Given the description of an element on the screen output the (x, y) to click on. 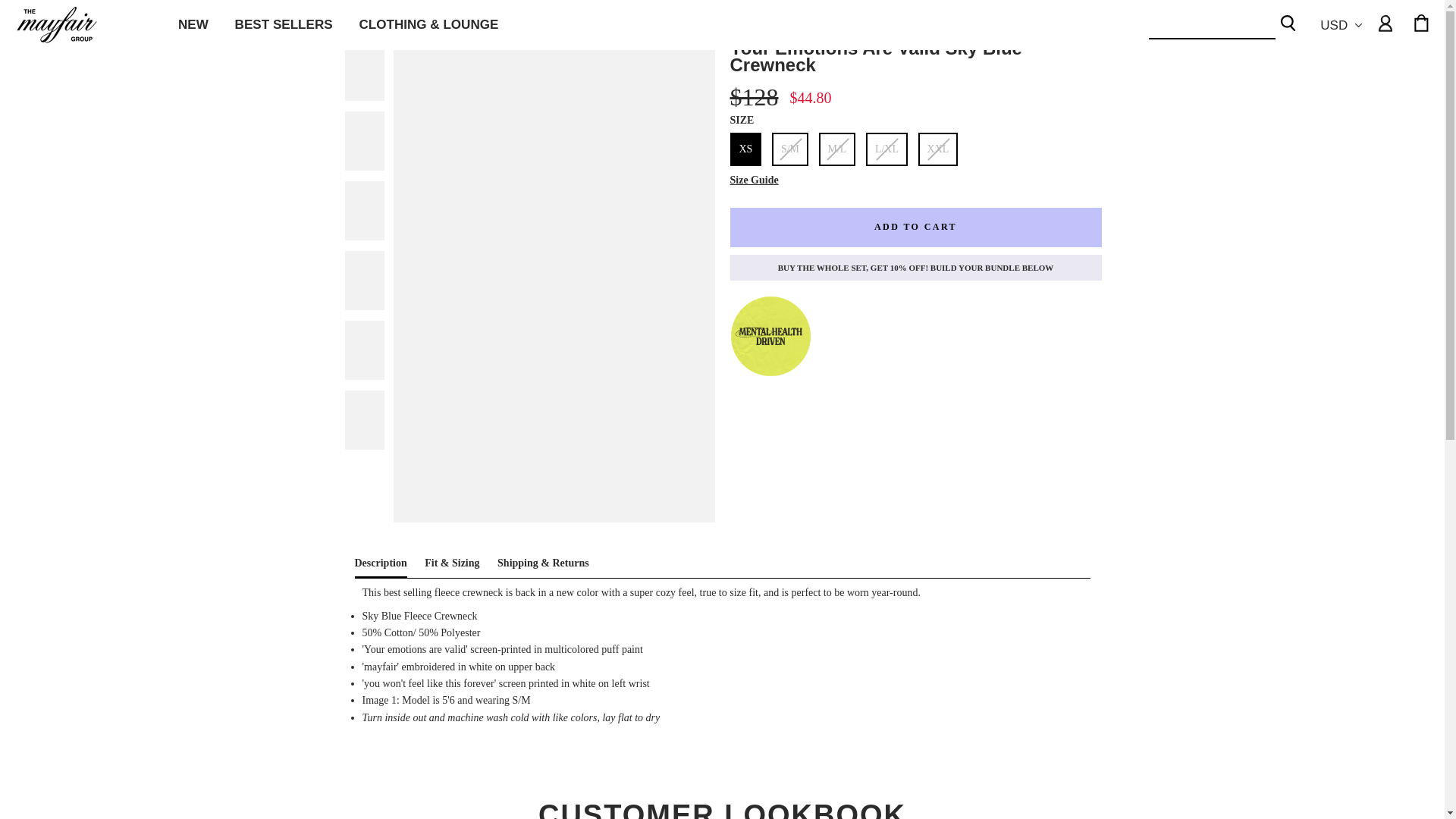
Search (1287, 25)
Cart (1422, 24)
Log in (1385, 24)
USD (1342, 25)
Home (351, 19)
NEW (193, 25)
BEST SELLERS (283, 25)
